Given the description of an element on the screen output the (x, y) to click on. 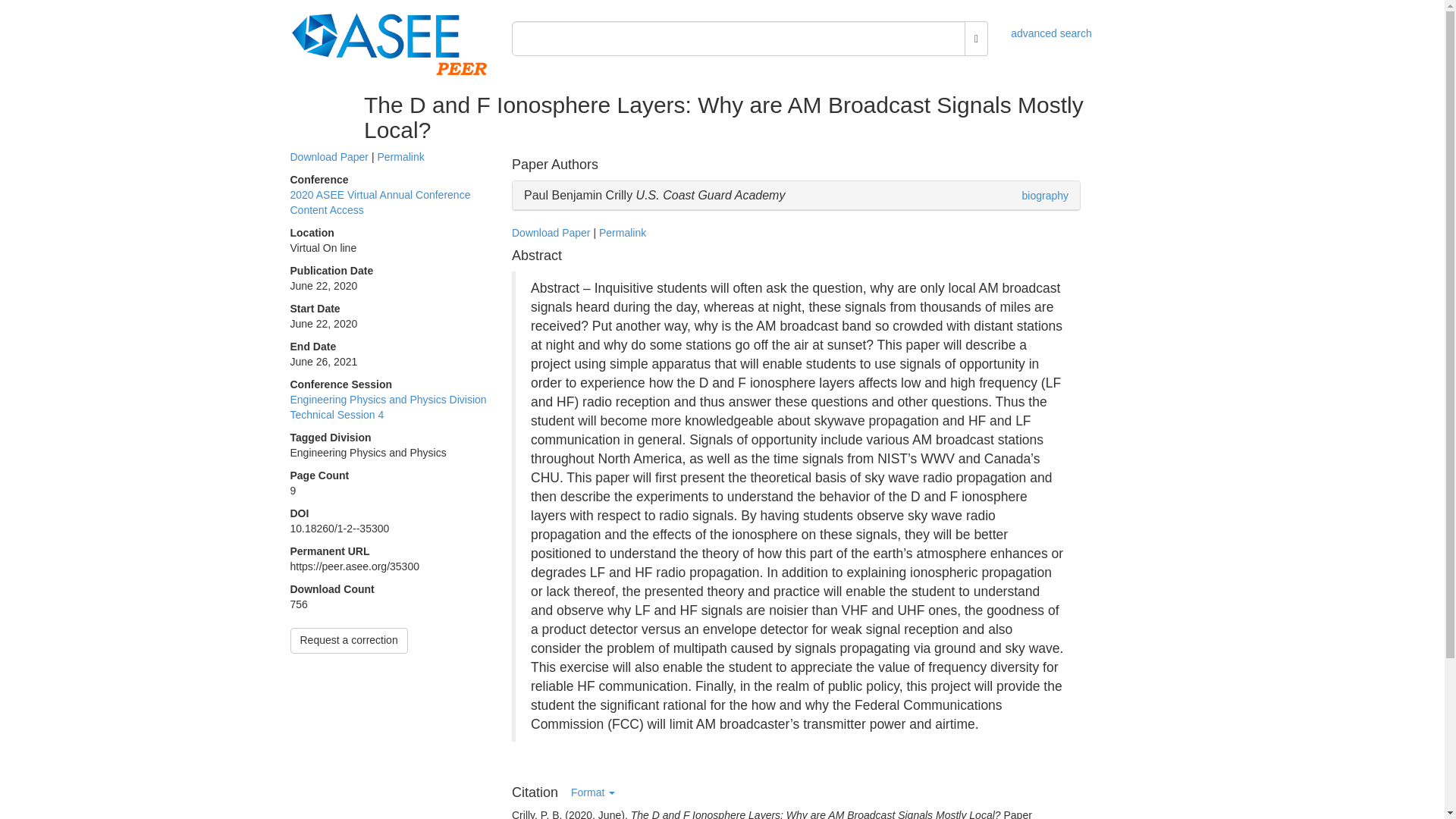
Download Paper (328, 156)
Permalink (622, 232)
2020 ASEE Virtual Annual Conference Content Access (379, 202)
advanced search (1051, 33)
Permalink (400, 156)
Download Paper (551, 232)
Format (592, 793)
biography (1045, 195)
Engineering Physics and Physics Division Technical Session 4 (387, 406)
Request a correction (348, 640)
